Given the description of an element on the screen output the (x, y) to click on. 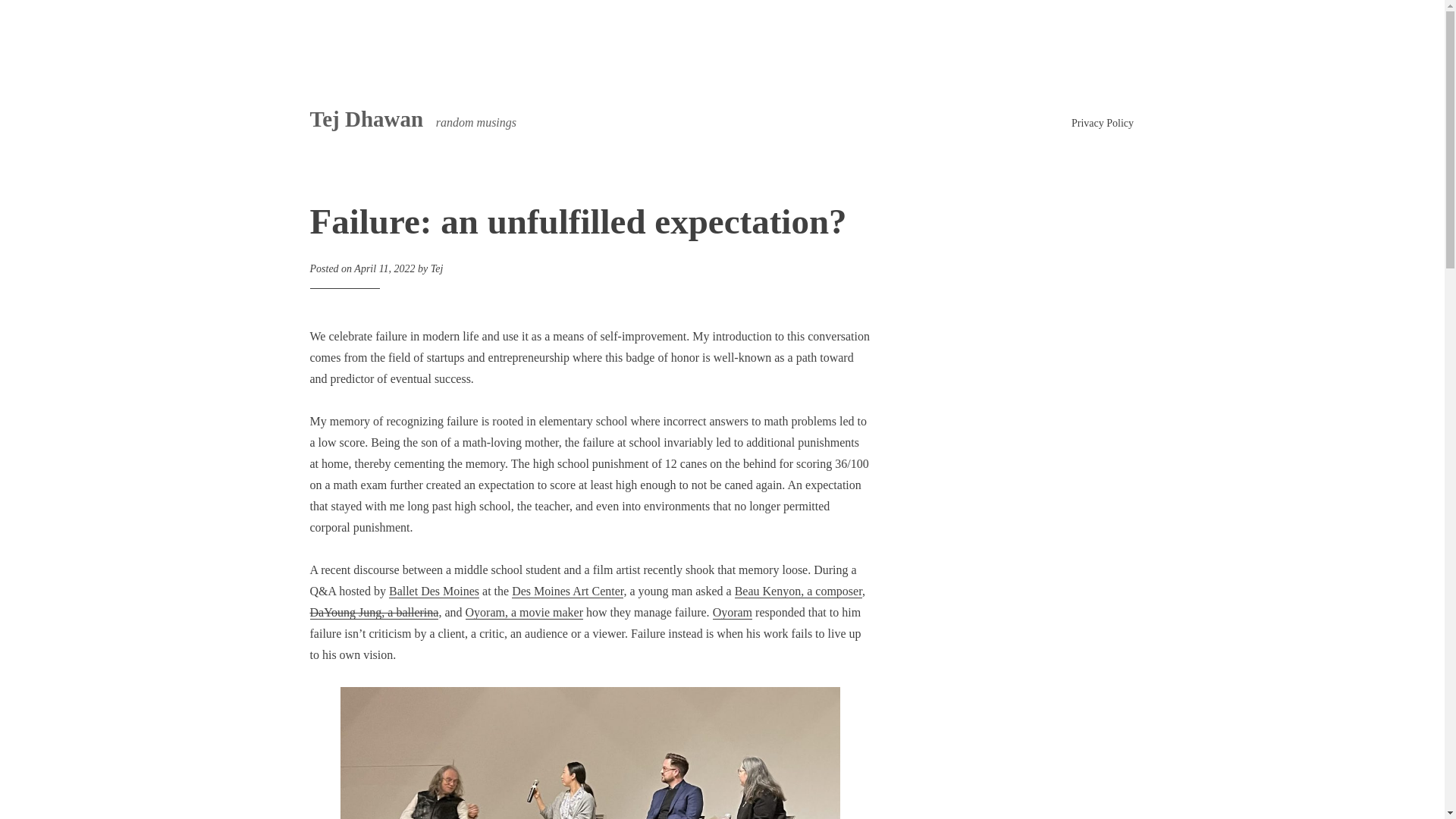
DaYoung Jung, a ballerina (373, 612)
Oyoram, a movie maker (524, 612)
Privacy Policy (1102, 122)
April 11, 2022 (383, 268)
Ballet Des Moines (433, 591)
Tej Dhawan (365, 119)
Oyoram (732, 612)
Des Moines Art Center (567, 591)
Tej (437, 268)
Beau Kenyon, a composer (798, 591)
